Given the description of an element on the screen output the (x, y) to click on. 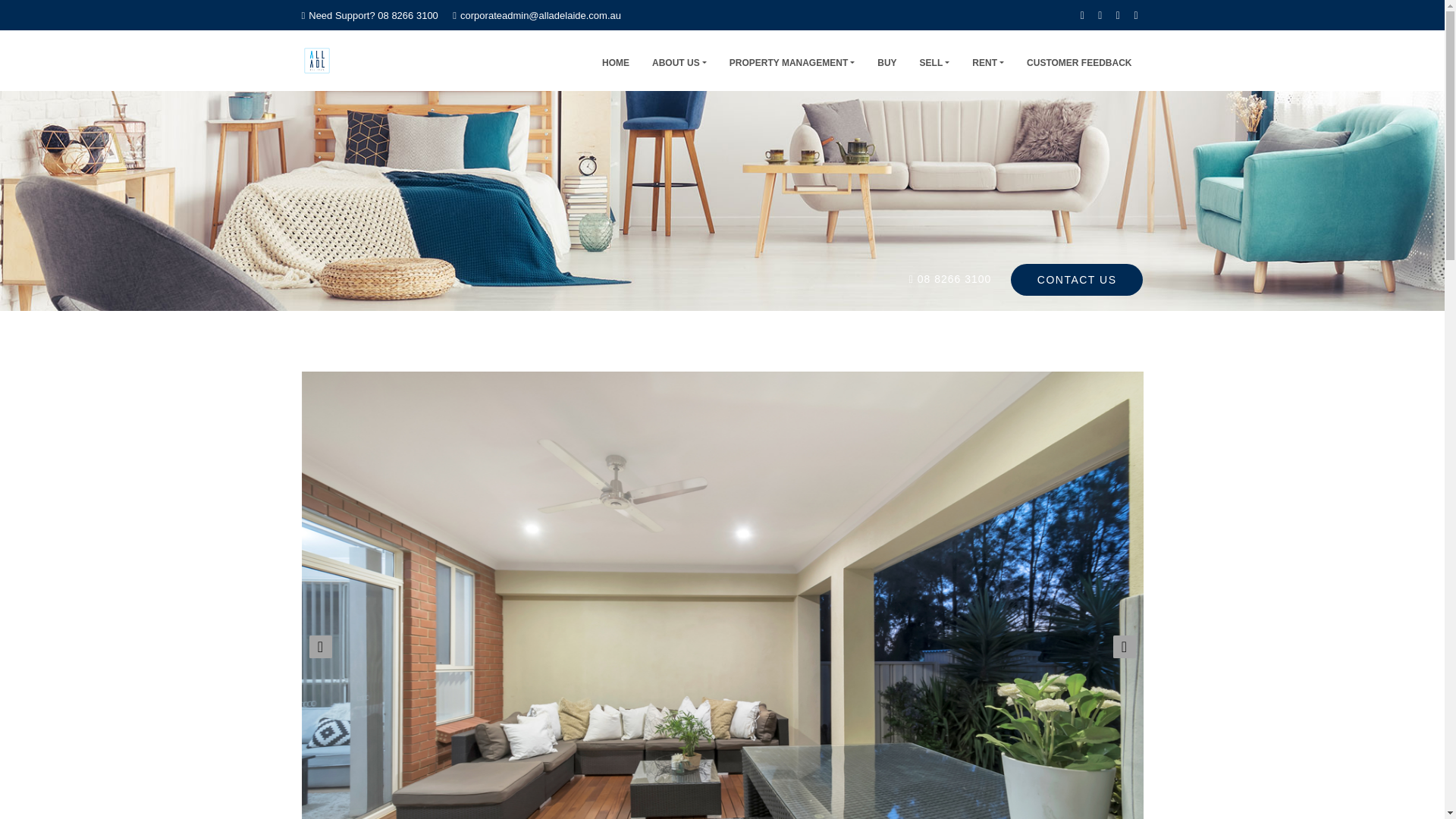
ABOUT US (678, 60)
CONTACT US (1076, 279)
Need Support? 08 8266 3100 (369, 15)
CUSTOMER FEEDBACK (1078, 60)
08 8266 3100 (954, 278)
PROPERTY MANAGEMENT (791, 60)
RENT (987, 60)
